Given the description of an element on the screen output the (x, y) to click on. 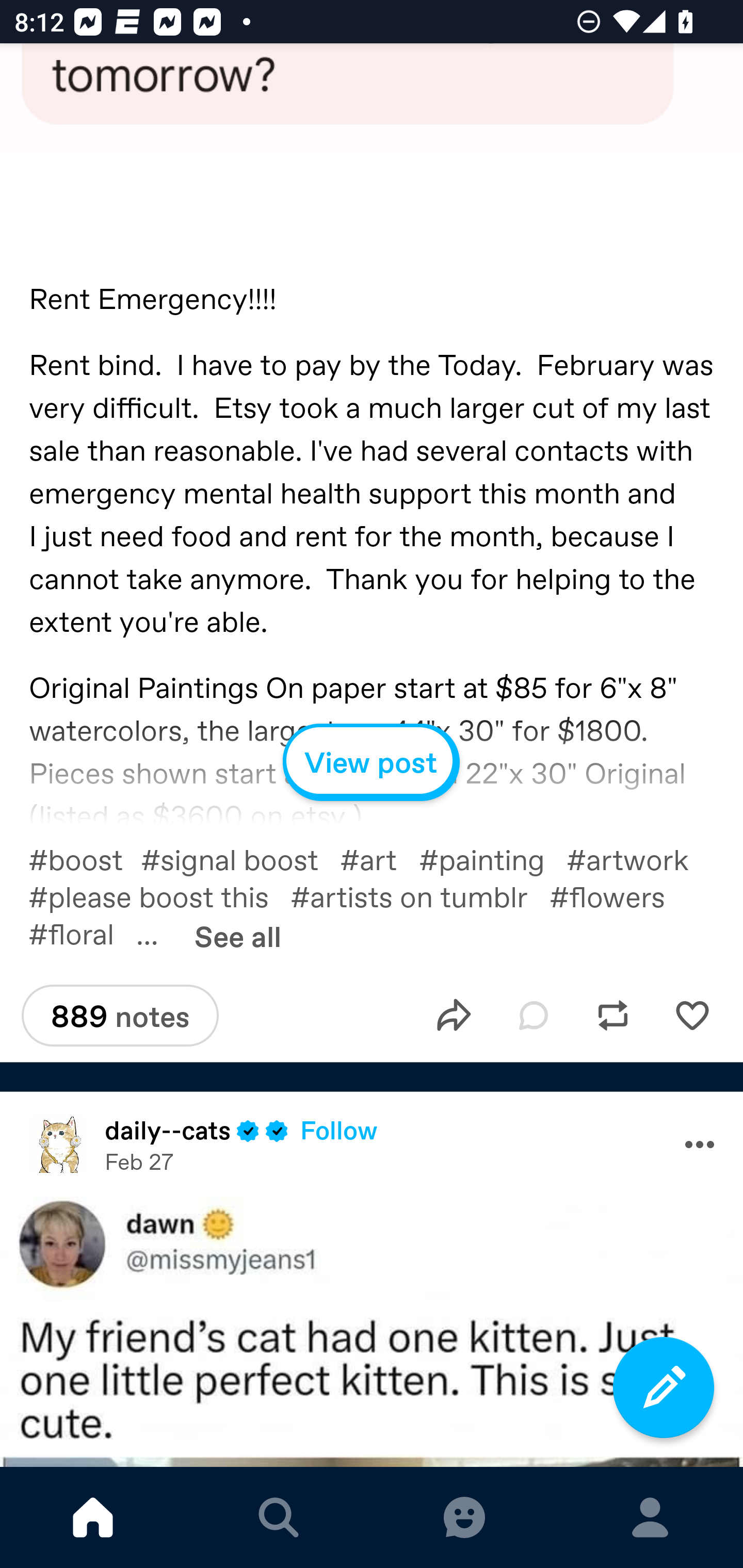
View post (371, 761)
#boost (84, 859)
#signal boost (240, 859)
#art (379, 859)
#painting (492, 859)
#artwork (638, 859)
#please boost this (159, 896)
#artists on tumblr (419, 896)
#flowers (618, 896)
#floral (81, 932)
… (157, 932)
See all (237, 936)
Share post to message (454, 1016)
Reblog (612, 1016)
Like (691, 1016)
889 notes (119, 1014)
Follow (338, 1129)
Compose a new post (663, 1387)
DASHBOARD (92, 1517)
EXPLORE (278, 1517)
MESSAGES (464, 1517)
ACCOUNT (650, 1517)
